Given the description of an element on the screen output the (x, y) to click on. 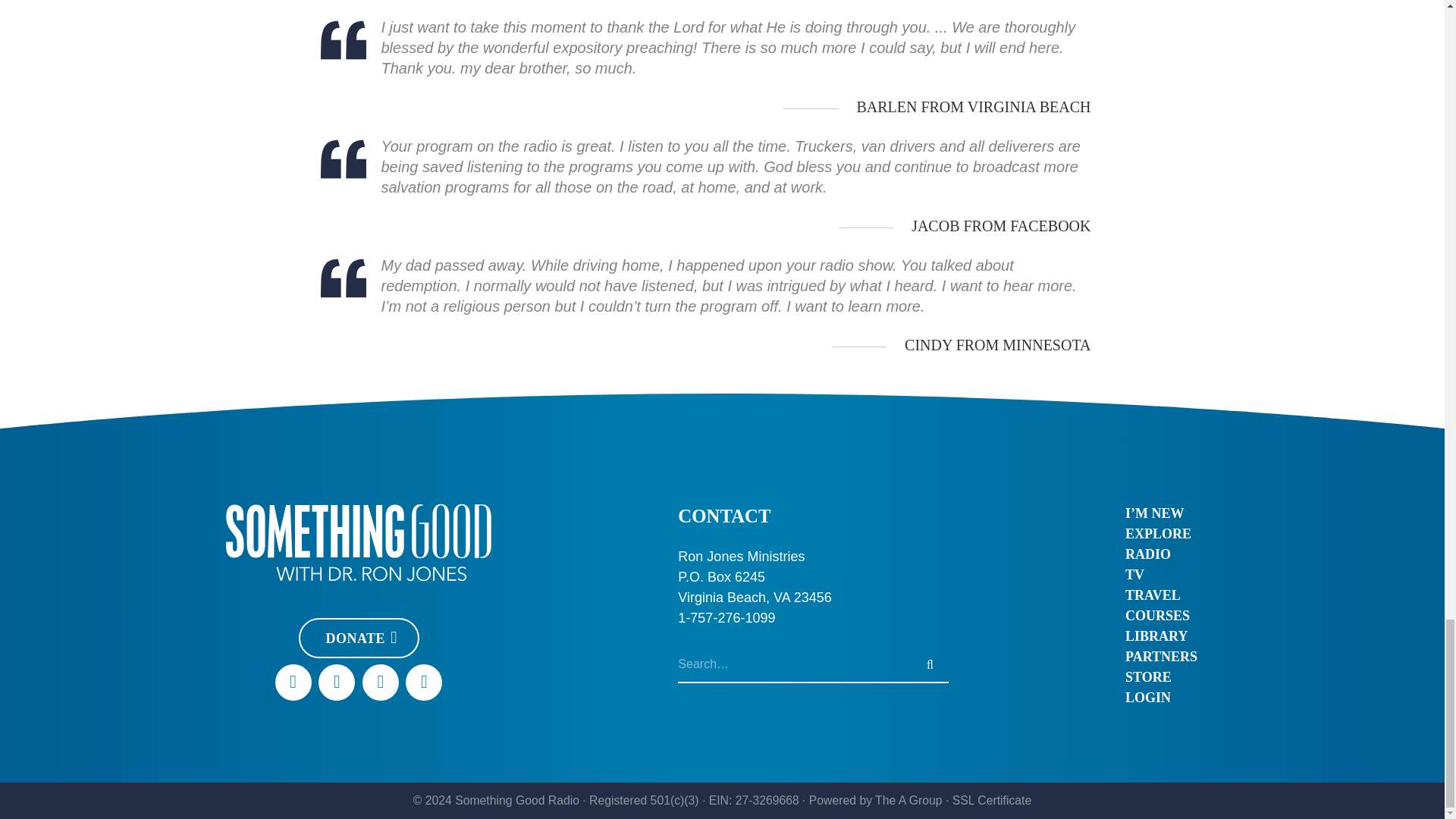
TRAVEL (1160, 595)
STORE (1160, 677)
Powered by The A Group (875, 799)
RADIO (1160, 554)
SEARCH (930, 665)
LIBRARY (1160, 636)
RSS (424, 682)
Facebook (293, 682)
LOGIN (1160, 697)
PARTNERS (1160, 657)
DONATE (358, 638)
COURSES (1160, 616)
EXPLORE (1160, 534)
YouTube (336, 682)
TV (1160, 575)
